Given the description of an element on the screen output the (x, y) to click on. 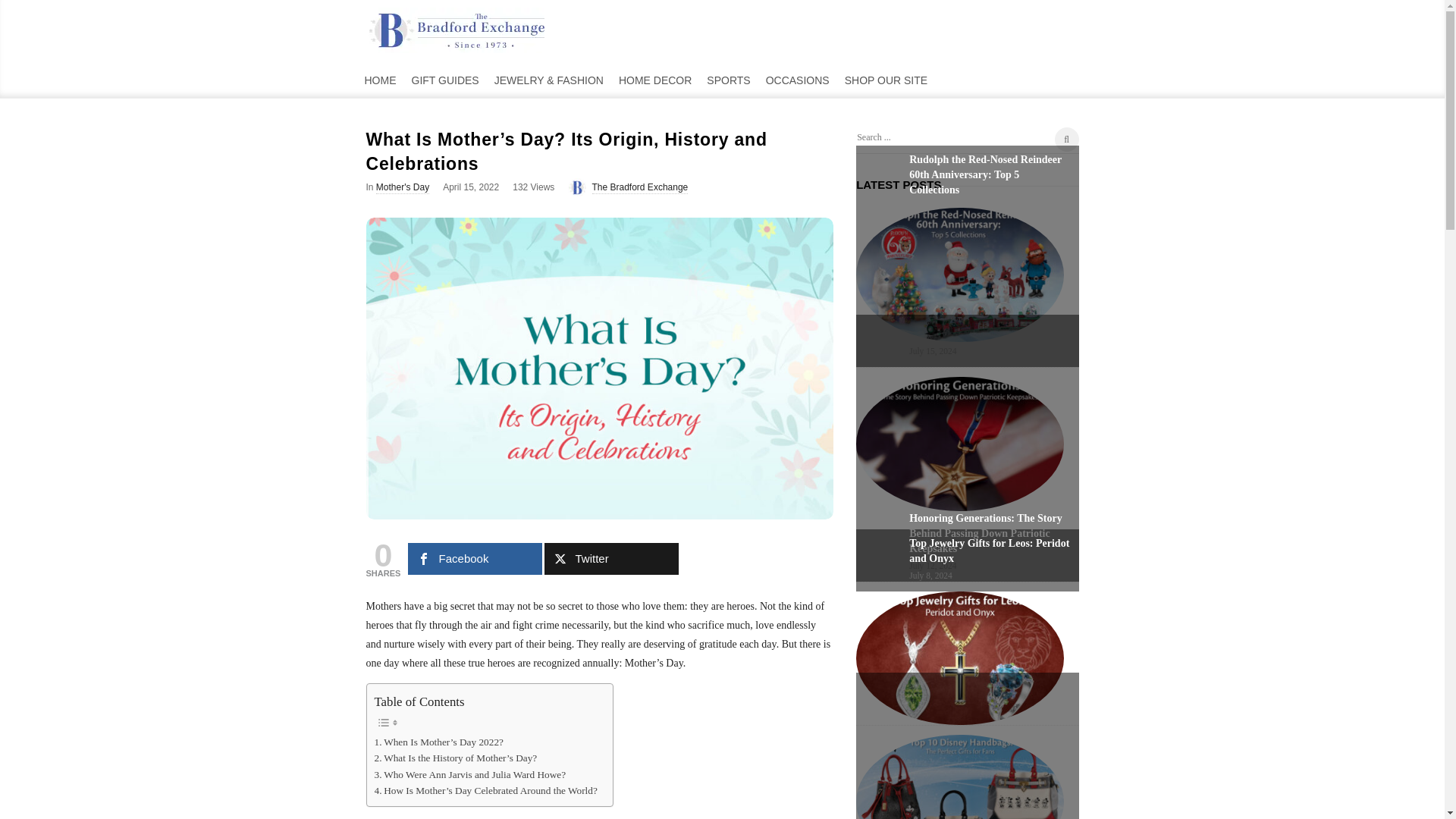
Twitter (611, 558)
Who Were Ann Jarvis and Julia Ward Howe? (470, 774)
HOME (379, 78)
Mother's Day (402, 187)
OCCASIONS (797, 78)
SHOP OUR SITE (885, 78)
The Bradford Exchange (639, 187)
Who Were Ann Jarvis and Julia Ward Howe? (470, 774)
GIFT GUIDES (444, 78)
SPORTS (727, 78)
HOME DECOR (654, 78)
Facebook (474, 558)
